Given the description of an element on the screen output the (x, y) to click on. 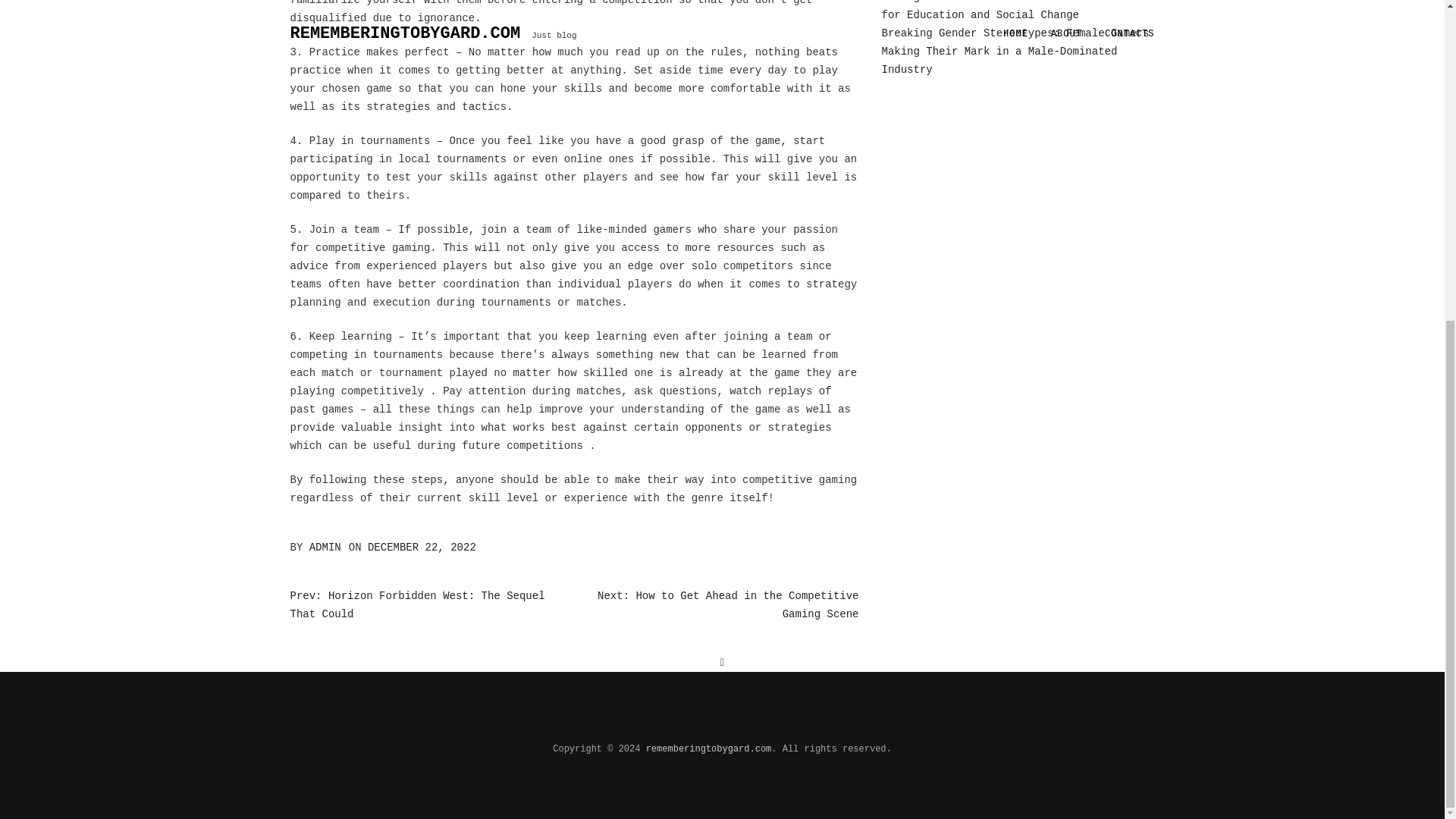
Next: How to Get Ahead in the Competitive Gaming Scene (727, 604)
ADMIN (324, 547)
rememberingtobygard.com (708, 748)
DECEMBER 22, 2022 (422, 547)
Prev: Horizon Forbidden West: The Sequel That Could (416, 604)
